Given the description of an element on the screen output the (x, y) to click on. 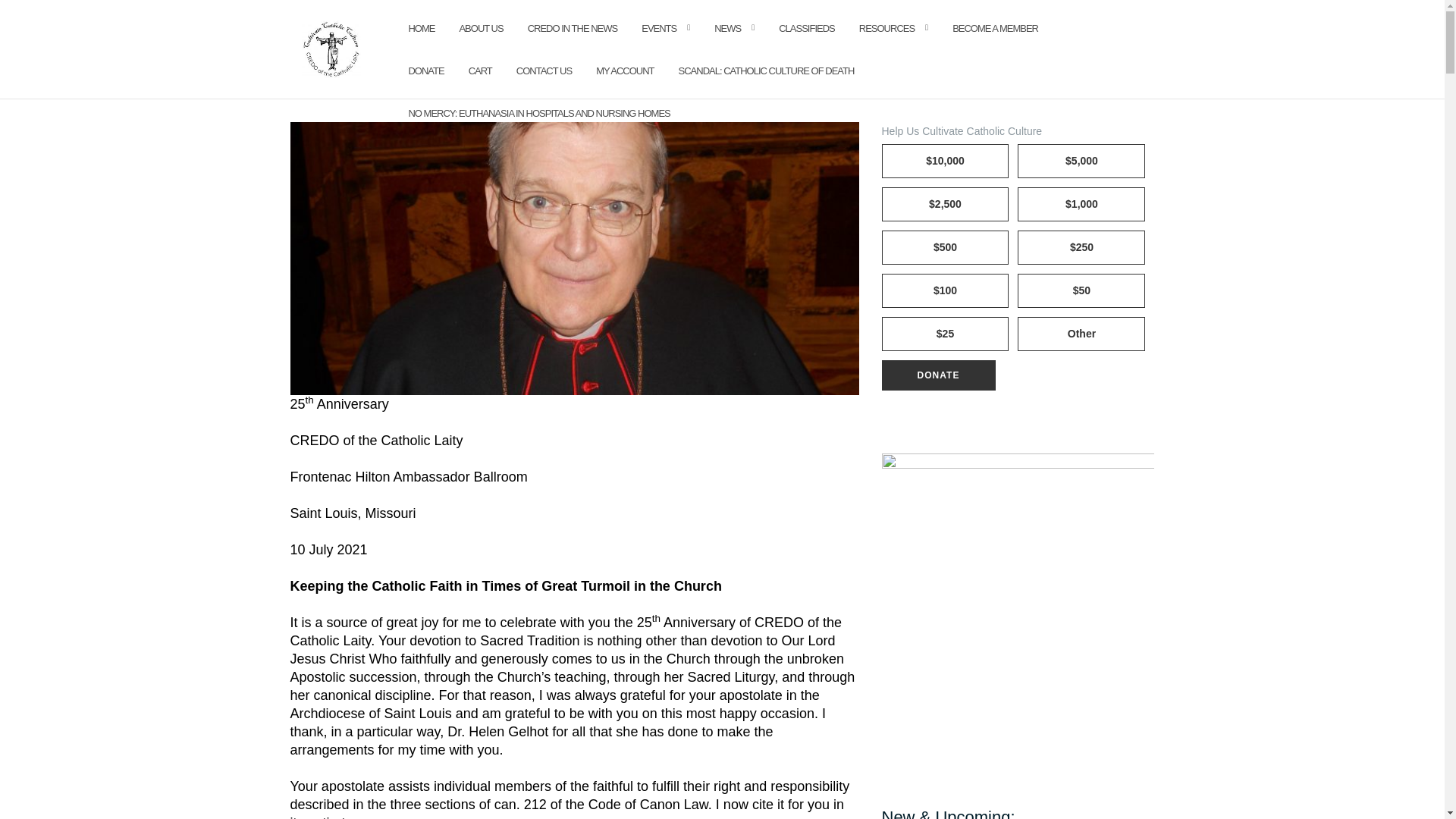
Classifieds (806, 28)
CREDO IN THE NEWS (572, 28)
RESOURCES (886, 28)
SCANDAL: CATHOLIC CULTURE OF DEATH (766, 71)
CREDO in the News (572, 28)
ABOUT US (480, 28)
MY ACCOUNT (624, 71)
CLASSIFIEDS (806, 28)
BECOME A MEMBER (995, 28)
CONTACT US (544, 71)
